Given the description of an element on the screen output the (x, y) to click on. 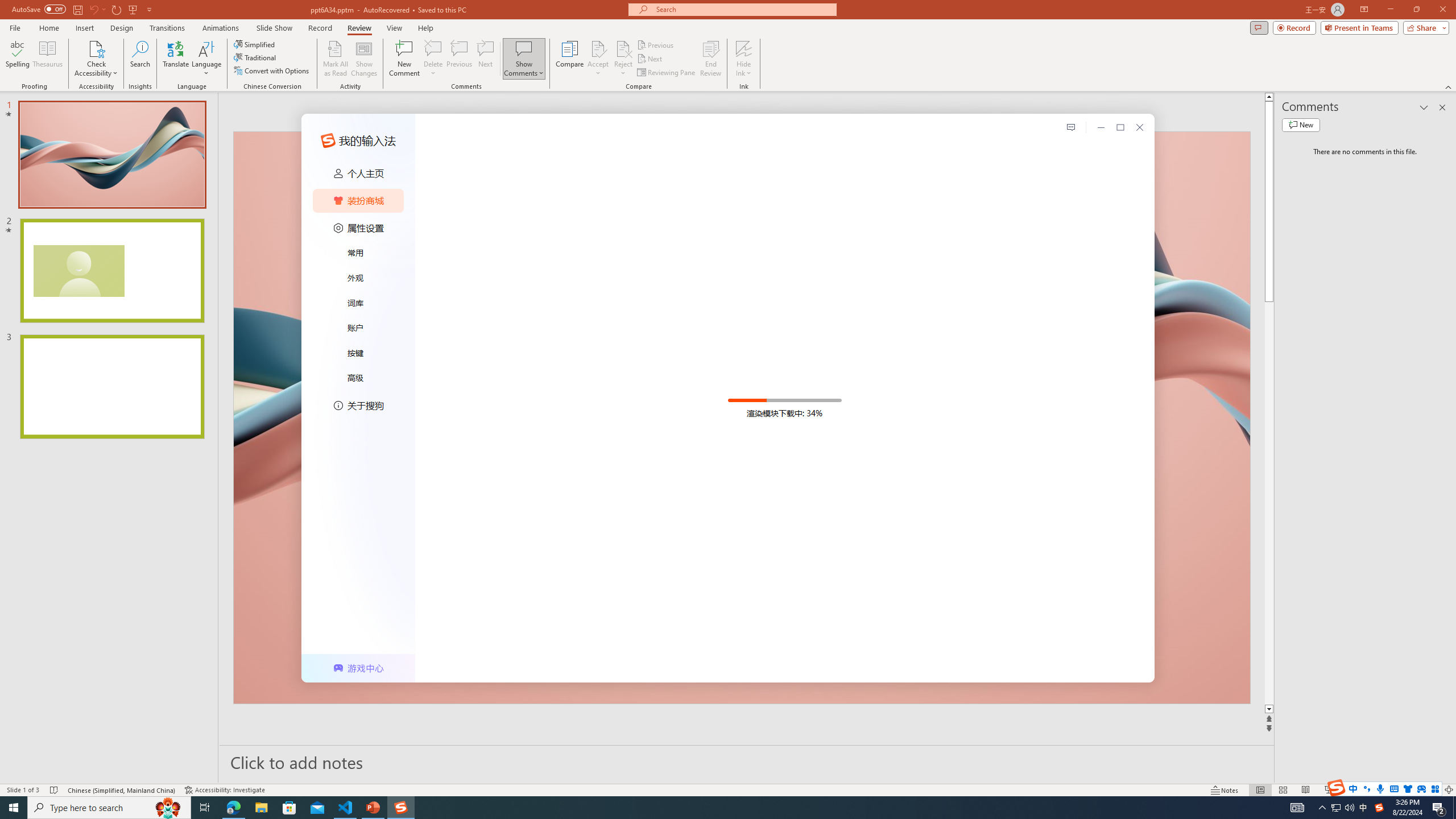
Translate (175, 58)
End Review (710, 58)
New comment (1300, 124)
